Given the description of an element on the screen output the (x, y) to click on. 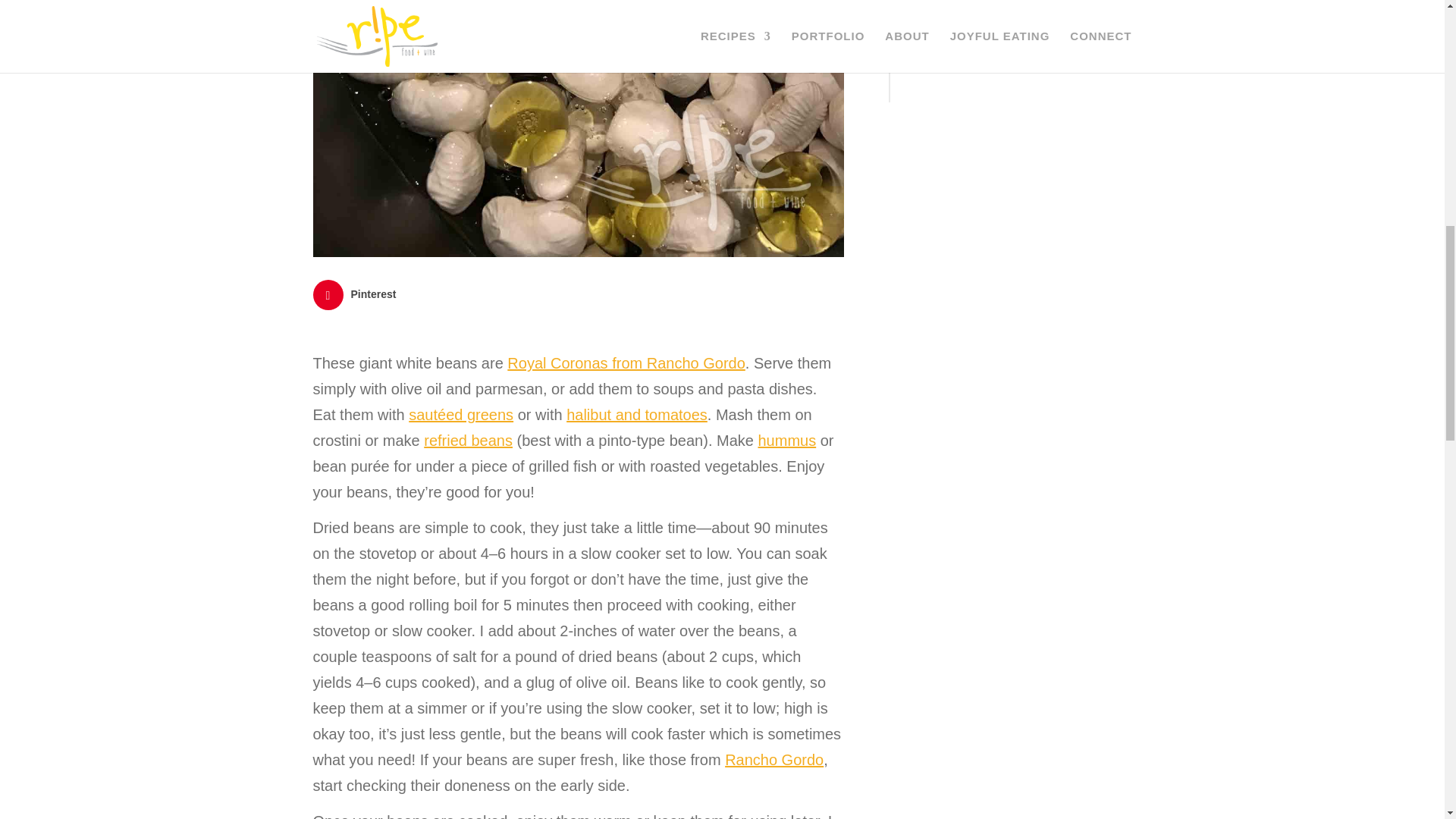
halibut and tomatoes (636, 414)
refried beans (467, 440)
Rancho Gordo (774, 759)
Pinterest (355, 295)
hummus (786, 440)
Royal Coronas from Rancho Gordo (625, 362)
